Given the description of an element on the screen output the (x, y) to click on. 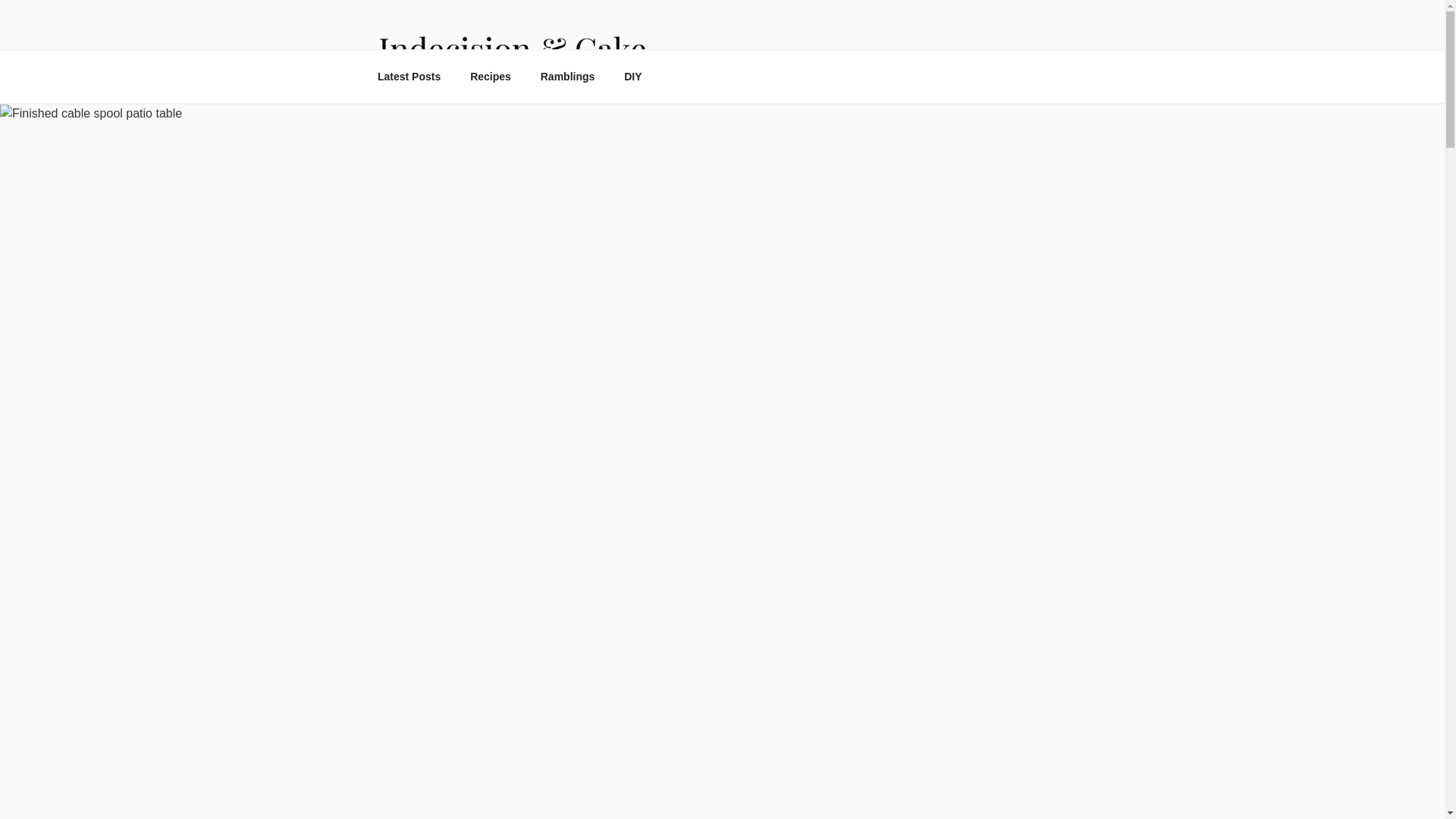
Ramblings (567, 76)
Recipes (490, 76)
Latest Posts (408, 76)
DIY (633, 76)
